Given the description of an element on the screen output the (x, y) to click on. 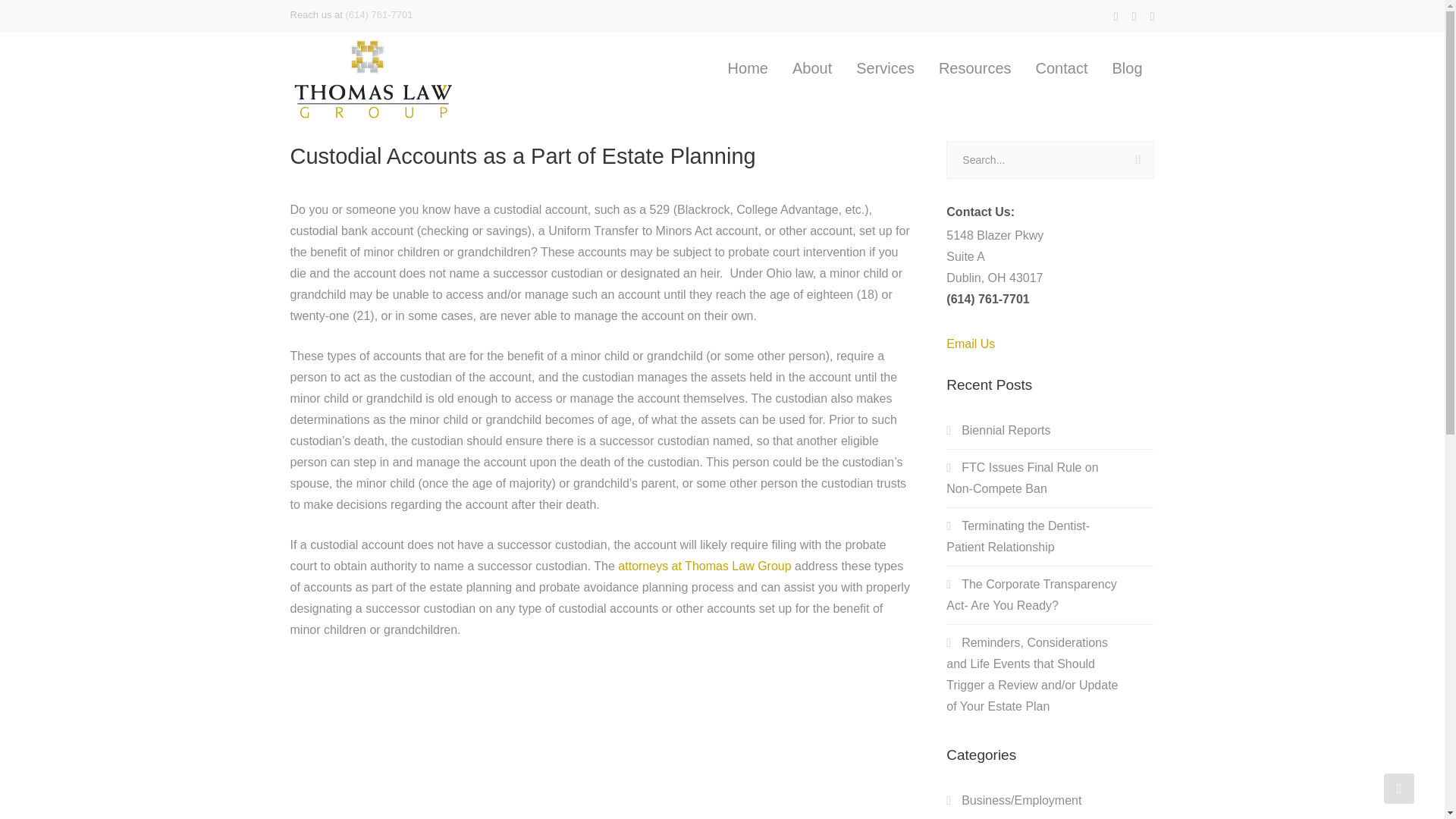
Resources (975, 68)
